Given the description of an element on the screen output the (x, y) to click on. 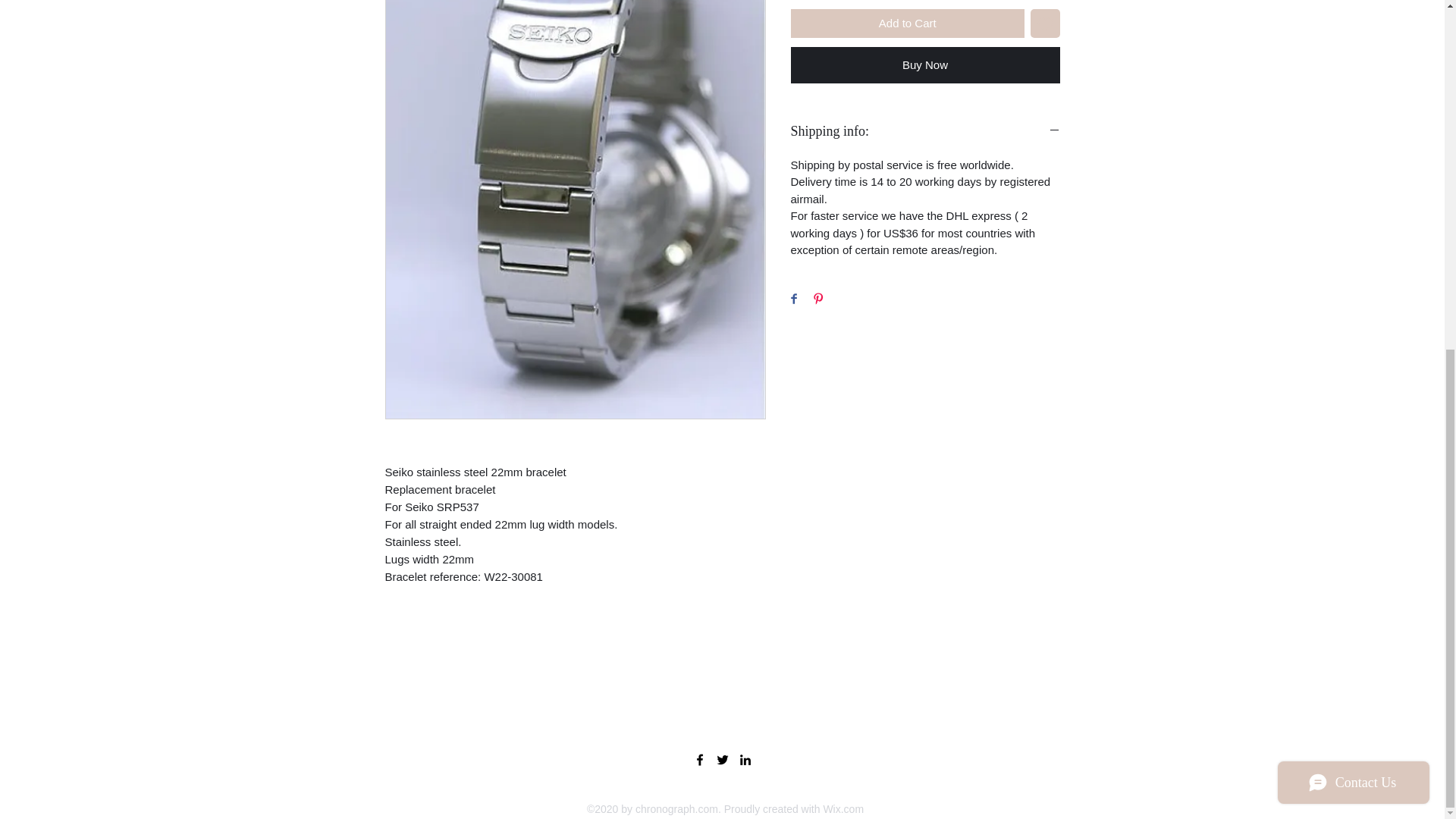
Buy Now (924, 64)
Shipping info: (924, 131)
Add to Cart (907, 23)
